Given the description of an element on the screen output the (x, y) to click on. 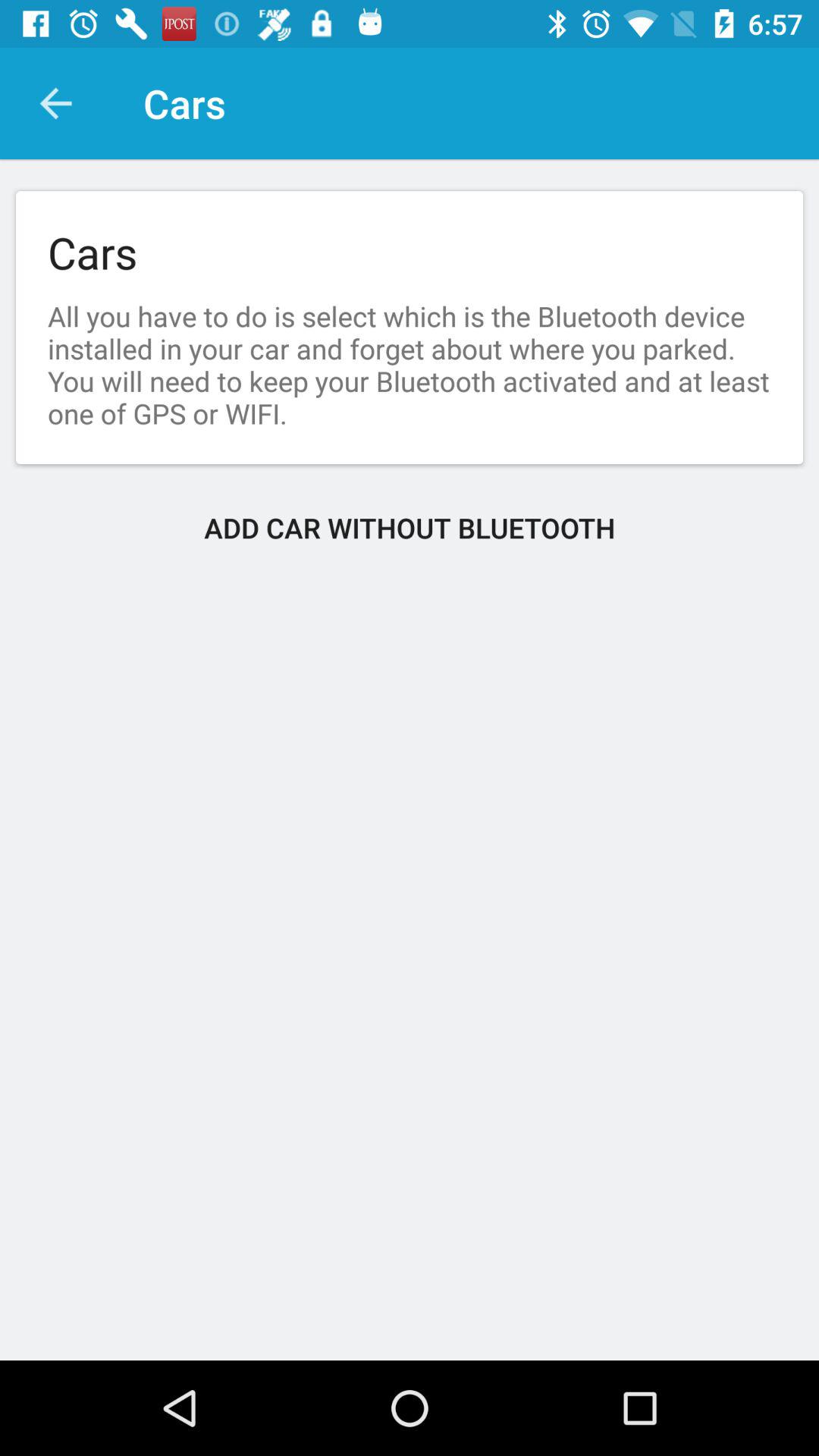
swipe until add car without item (409, 527)
